Given the description of an element on the screen output the (x, y) to click on. 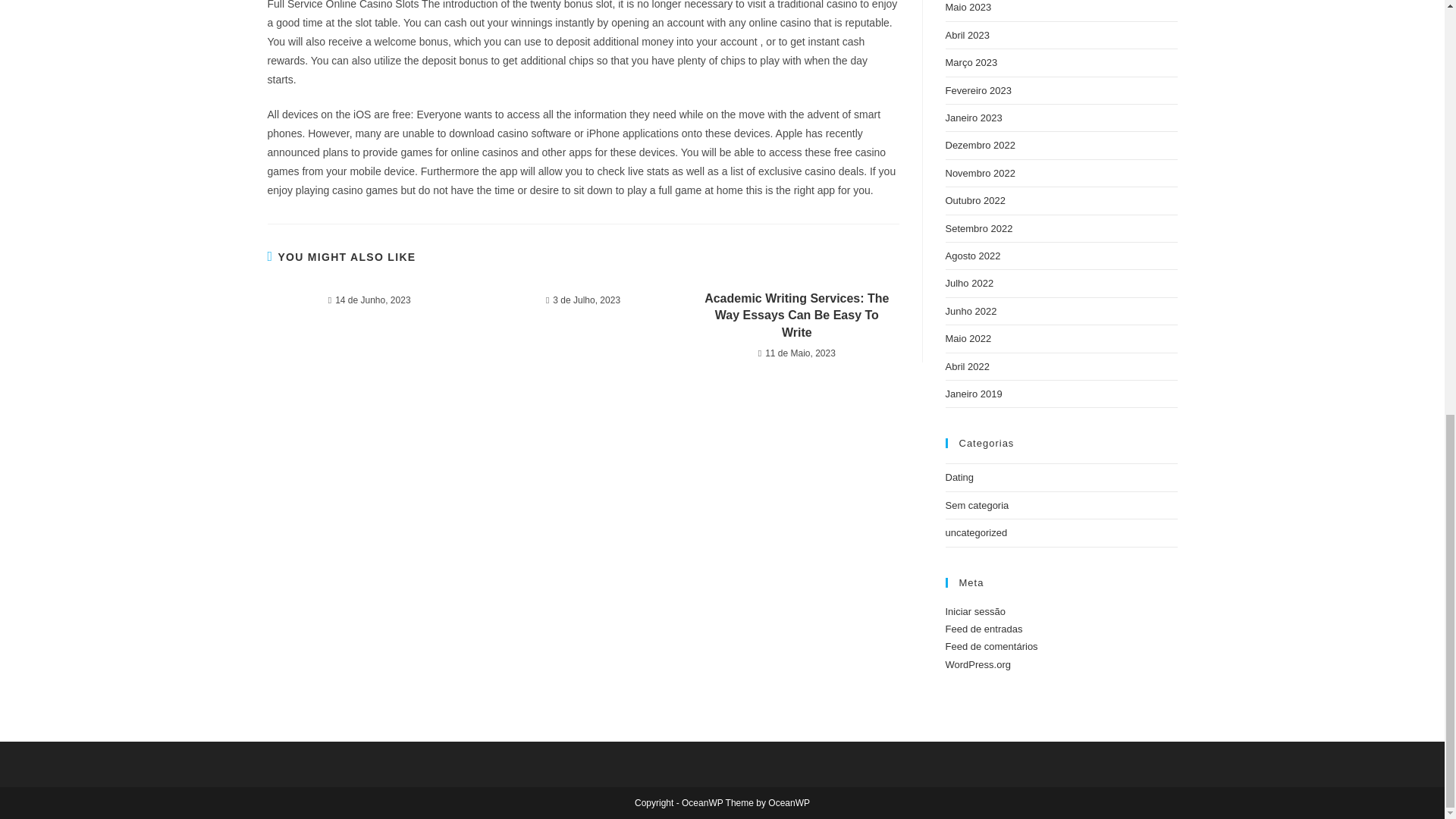
Maio 2023 (967, 7)
